Given the description of an element on the screen output the (x, y) to click on. 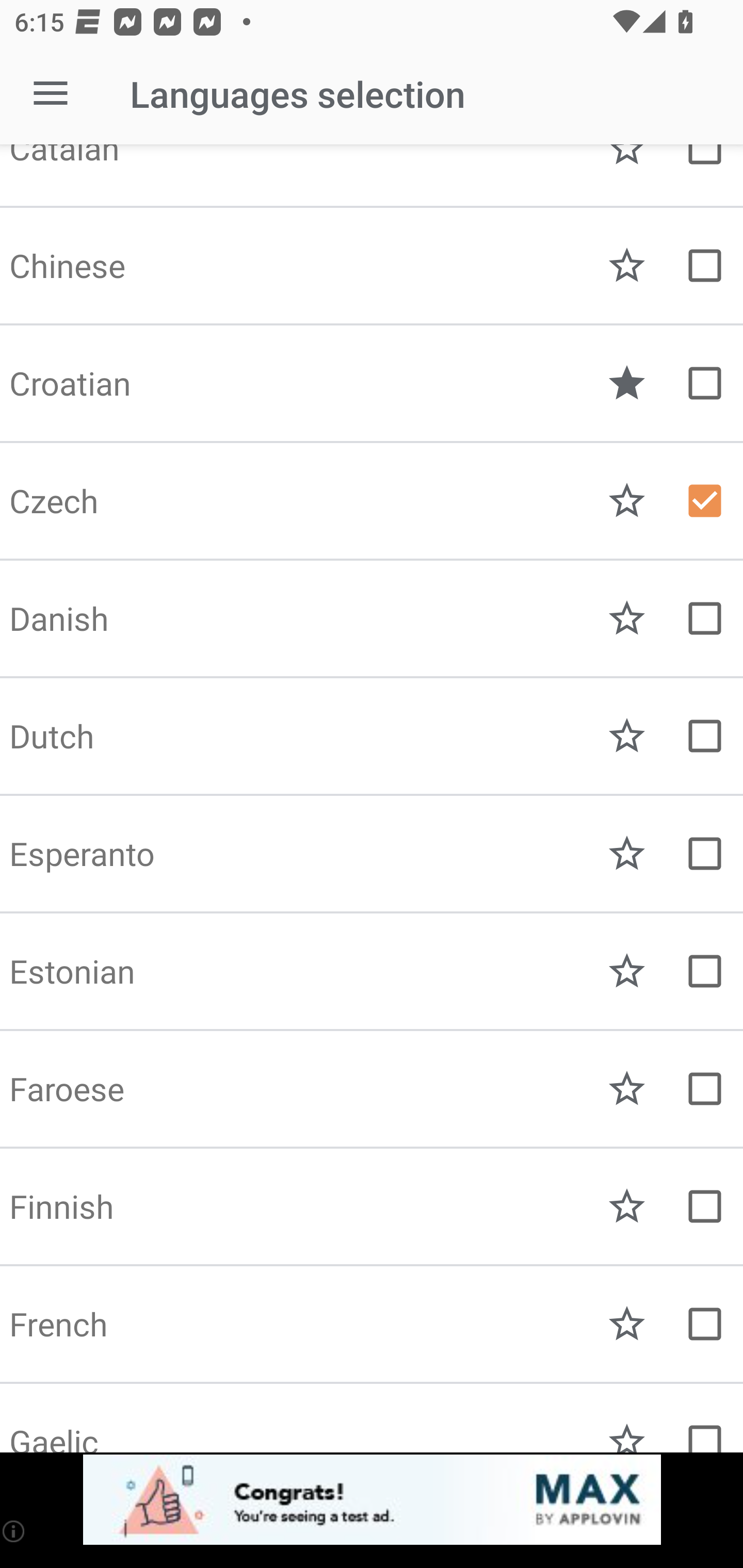
Open navigation sidebar (50, 93)
Chinese Favorite (371, 265)
Favorite (626, 265)
Croatian UnFavorite (371, 383)
UnFavorite (626, 383)
Czech Favorite (371, 500)
Favorite (626, 500)
Danish Favorite (371, 618)
Favorite (626, 618)
Dutch Favorite (371, 735)
Favorite (626, 736)
Esperanto Favorite (371, 853)
Favorite (626, 853)
Estonian Favorite (371, 971)
Favorite (626, 971)
Faroese Favorite (371, 1088)
Favorite (626, 1088)
Finnish Favorite (371, 1206)
Favorite (626, 1206)
French Favorite (371, 1323)
Favorite (626, 1324)
app-monetization (371, 1500)
(i) (14, 1531)
